Given the description of an element on the screen output the (x, y) to click on. 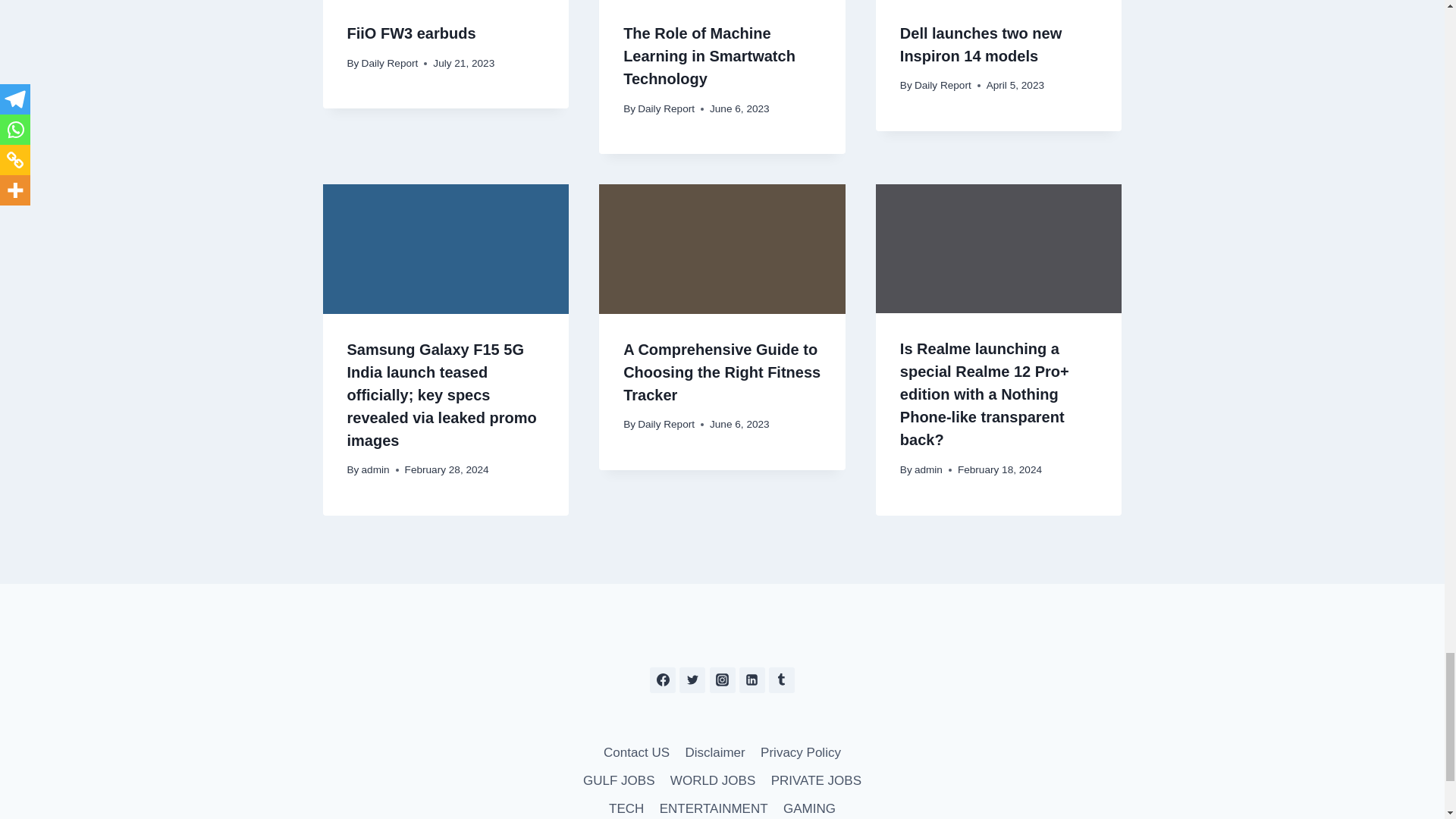
FiiO FW3 earbuds (411, 33)
Daily Report (390, 62)
